Given the description of an element on the screen output the (x, y) to click on. 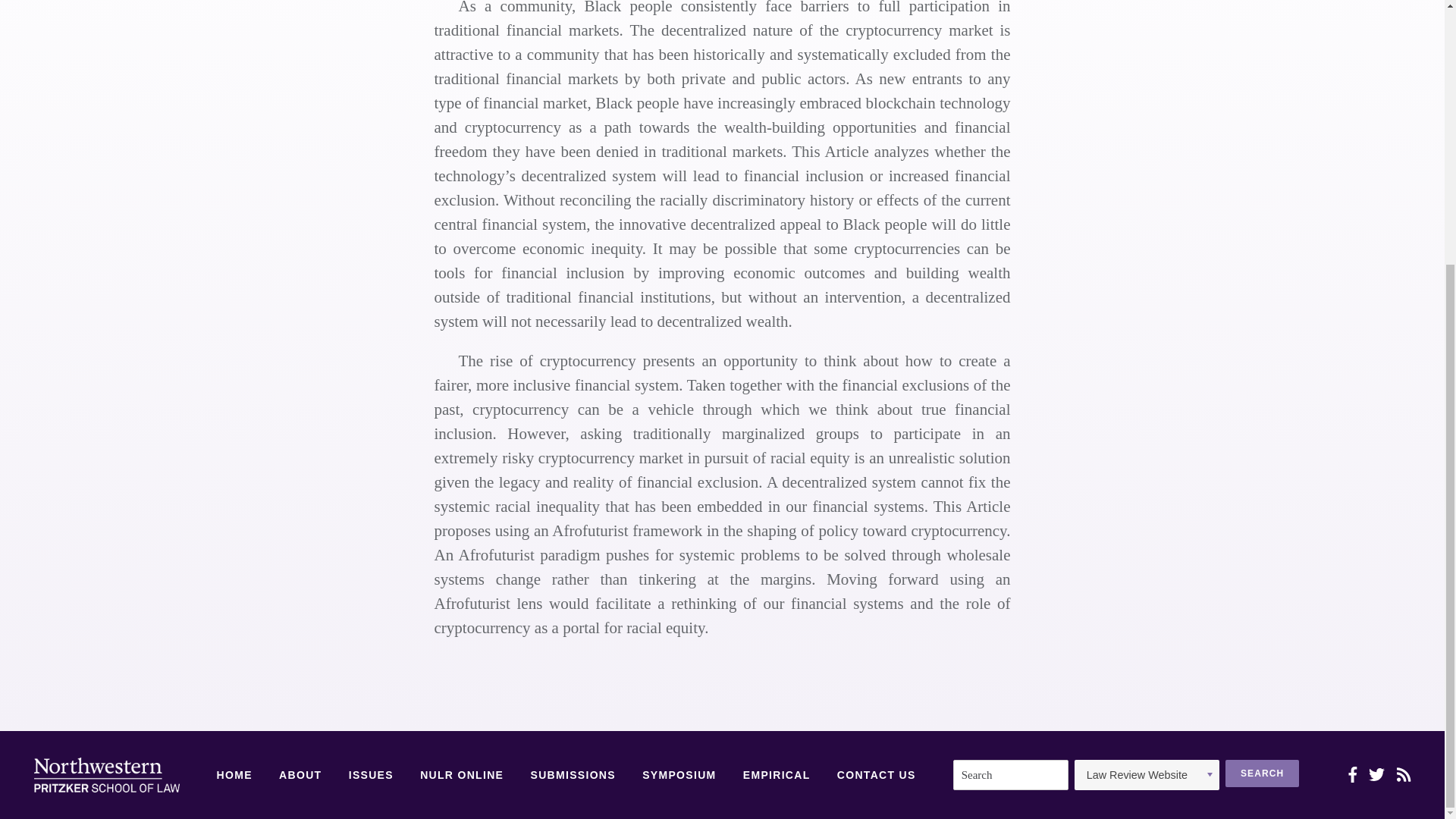
Search (1261, 773)
SYMPOSIUM (679, 775)
ABOUT (300, 775)
HOME (233, 775)
ISSUES (371, 775)
SUBMISSIONS (571, 775)
Law Review Website (1147, 775)
CONTACT US (876, 775)
Northwestern Pritzker School of Law (106, 774)
NULR ONLINE (461, 775)
